Given the description of an element on the screen output the (x, y) to click on. 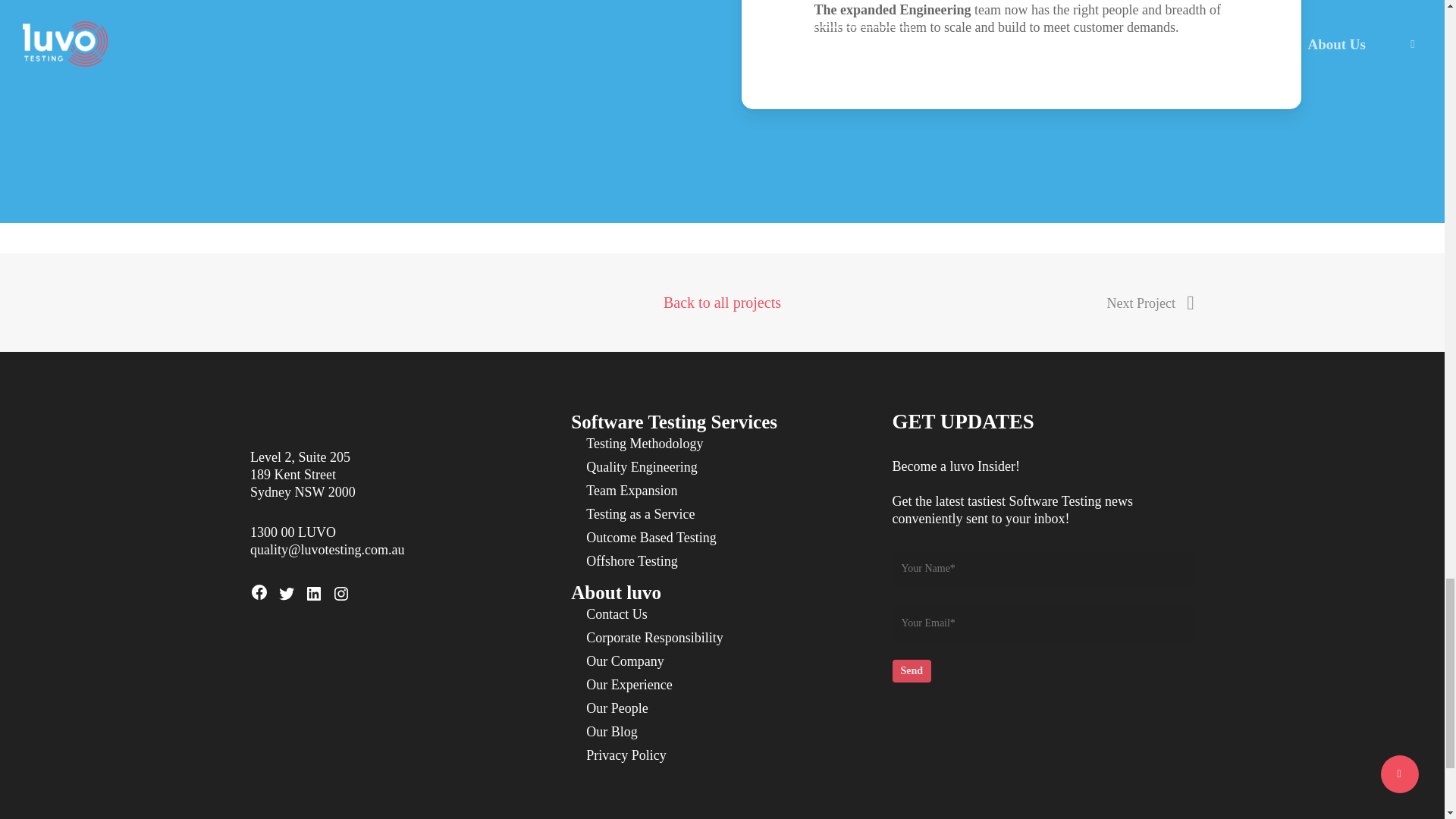
Send (911, 671)
Back to all projects (721, 298)
Next Project (1149, 302)
